Given the description of an element on the screen output the (x, y) to click on. 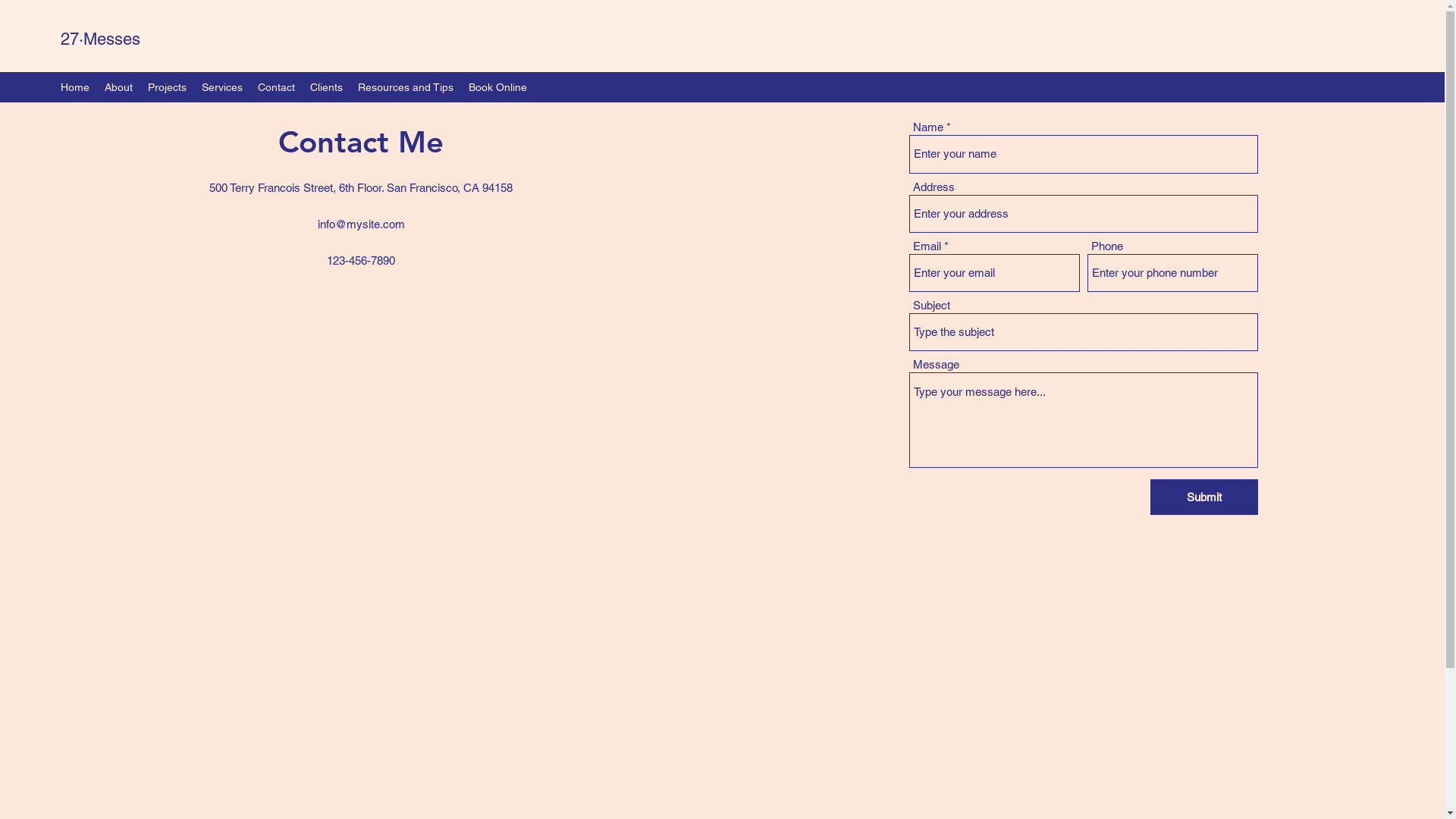
Resources and Tips Element type: text (405, 86)
Book Online Element type: text (497, 86)
info@mysite.com Element type: text (360, 223)
Submit Element type: text (1204, 496)
Home Element type: text (75, 86)
Contact Element type: text (276, 86)
Projects Element type: text (167, 86)
Services Element type: text (222, 86)
About Element type: text (118, 86)
Clients Element type: text (326, 86)
